Given the description of an element on the screen output the (x, y) to click on. 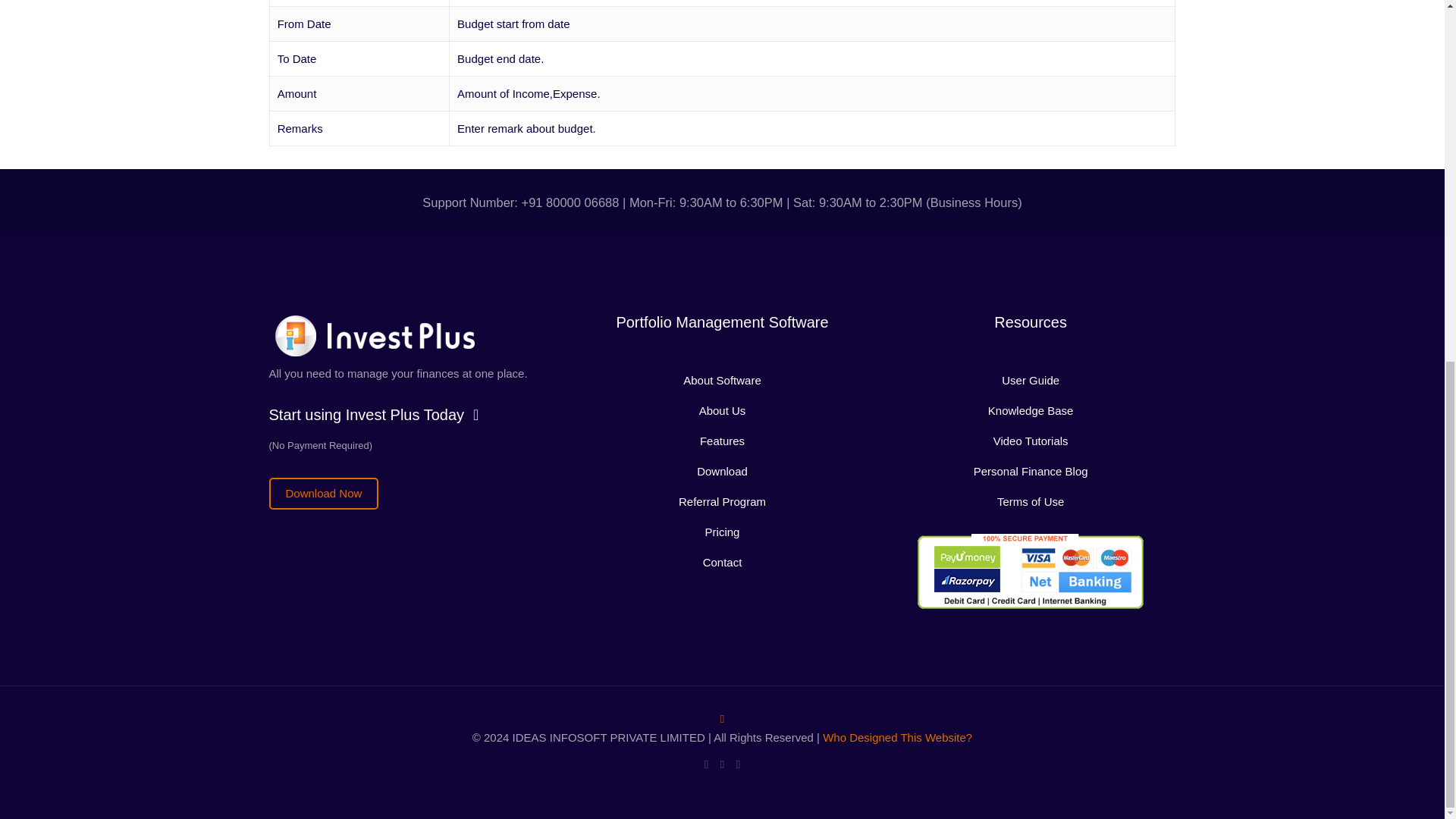
Download Now (322, 493)
About Software (721, 379)
Features (722, 440)
Contact (722, 562)
Download (722, 471)
Referral Program (721, 501)
Pricing (721, 531)
About Us (721, 410)
